Given the description of an element on the screen output the (x, y) to click on. 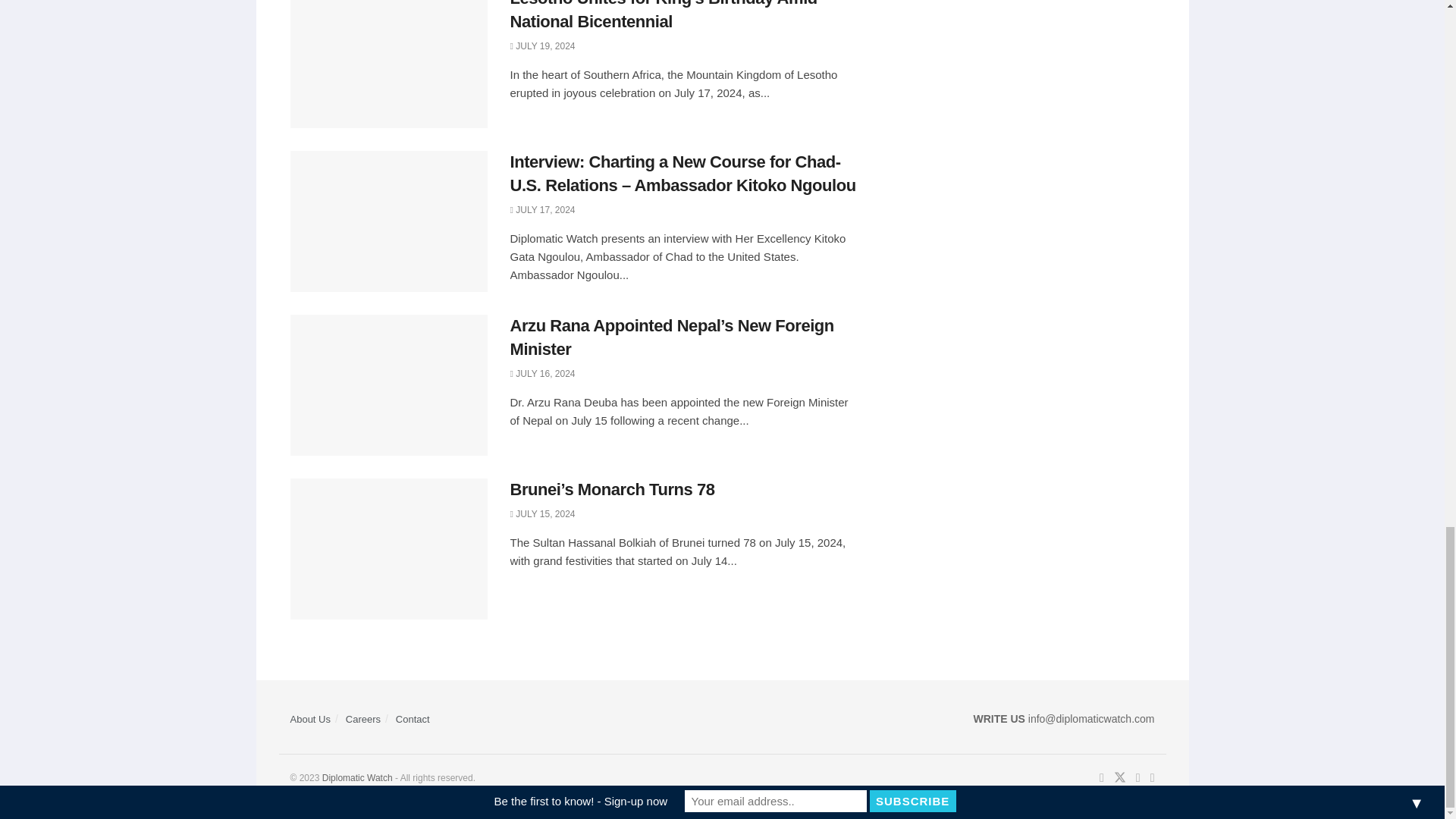
A Conduit Communications Partner (357, 777)
